Given the description of an element on the screen output the (x, y) to click on. 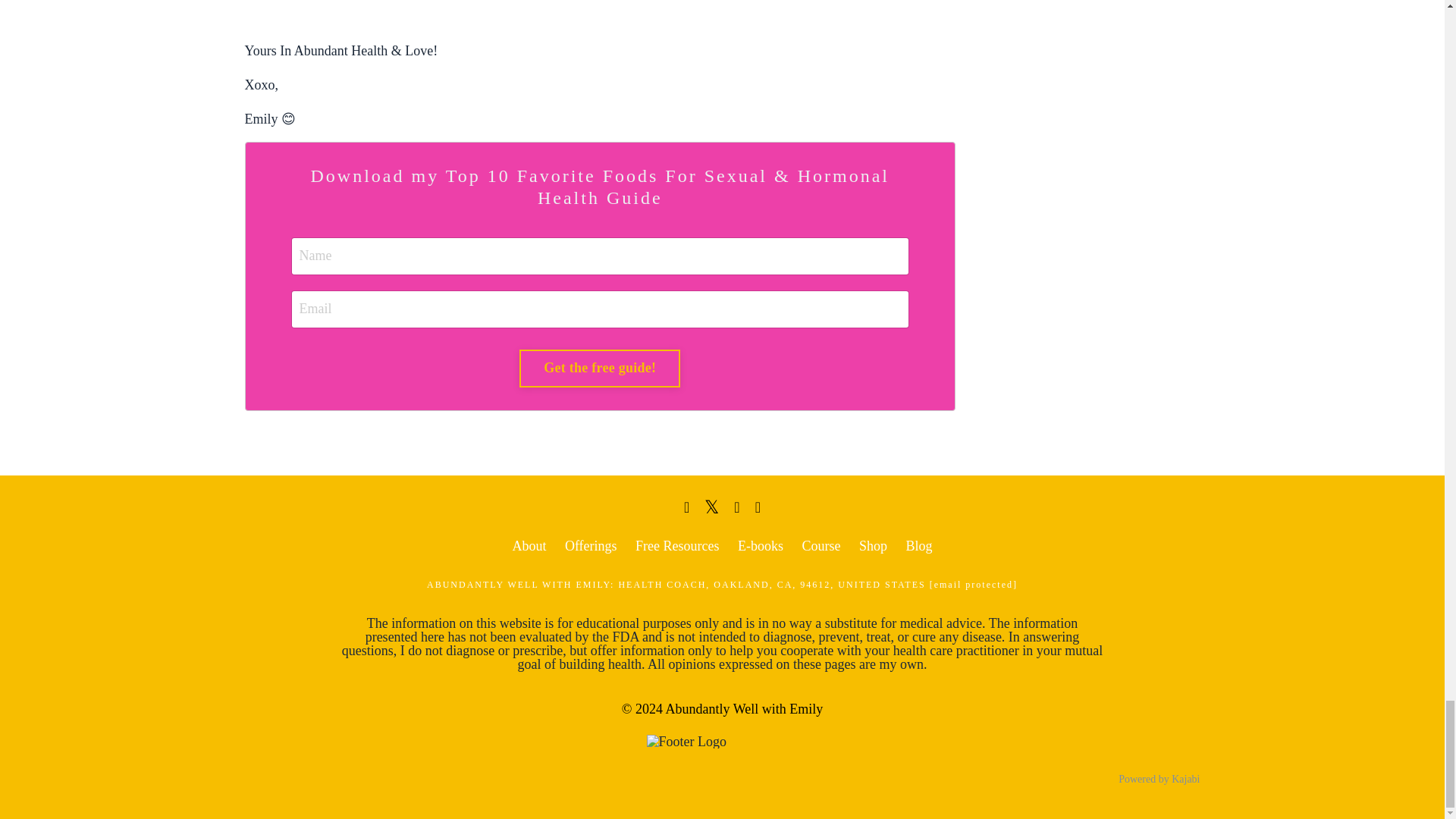
Get the free guide! (599, 368)
Get the free guide! (599, 368)
